Given the description of an element on the screen output the (x, y) to click on. 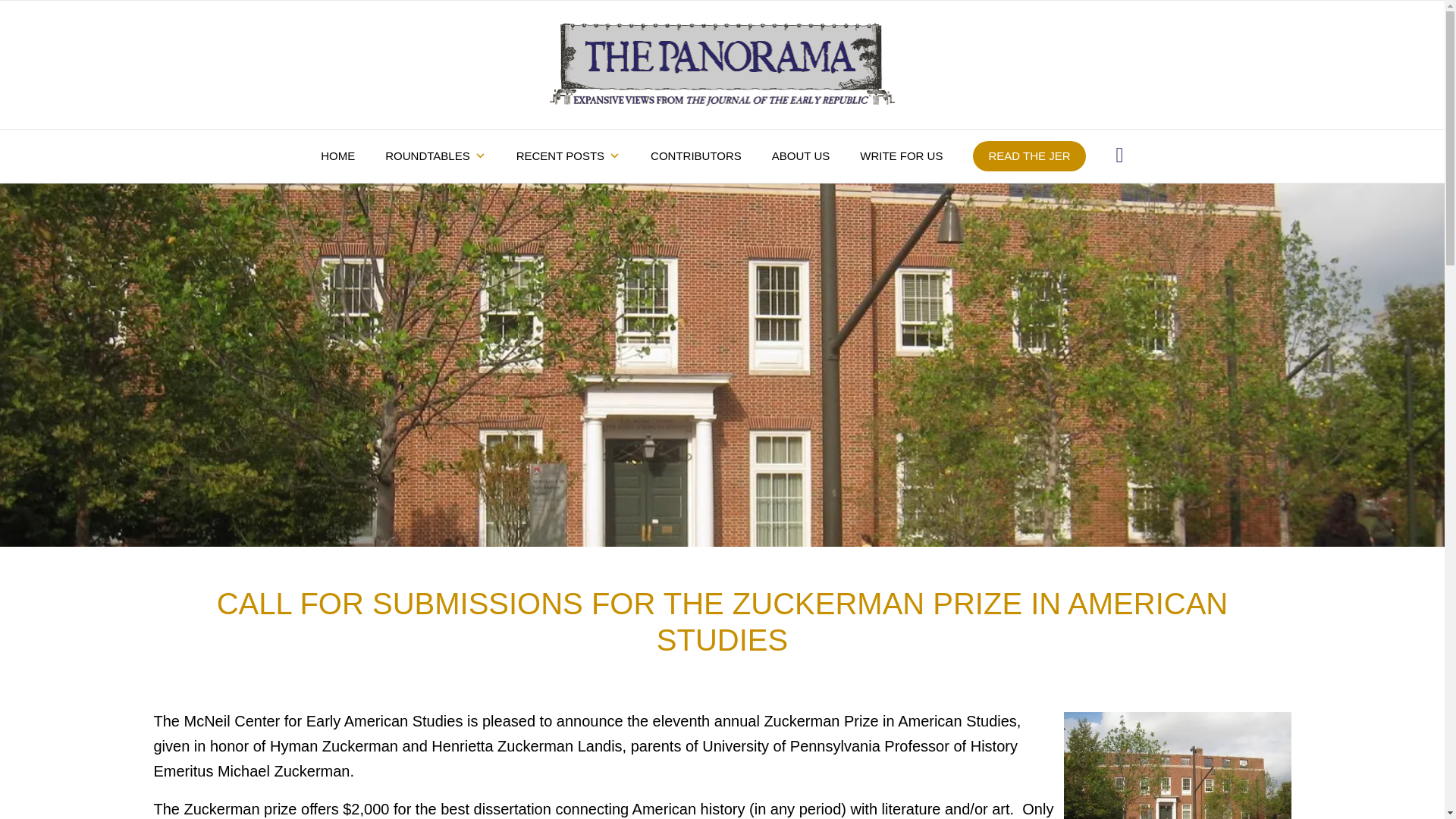
panoheader1206 (722, 64)
